Given the description of an element on the screen output the (x, y) to click on. 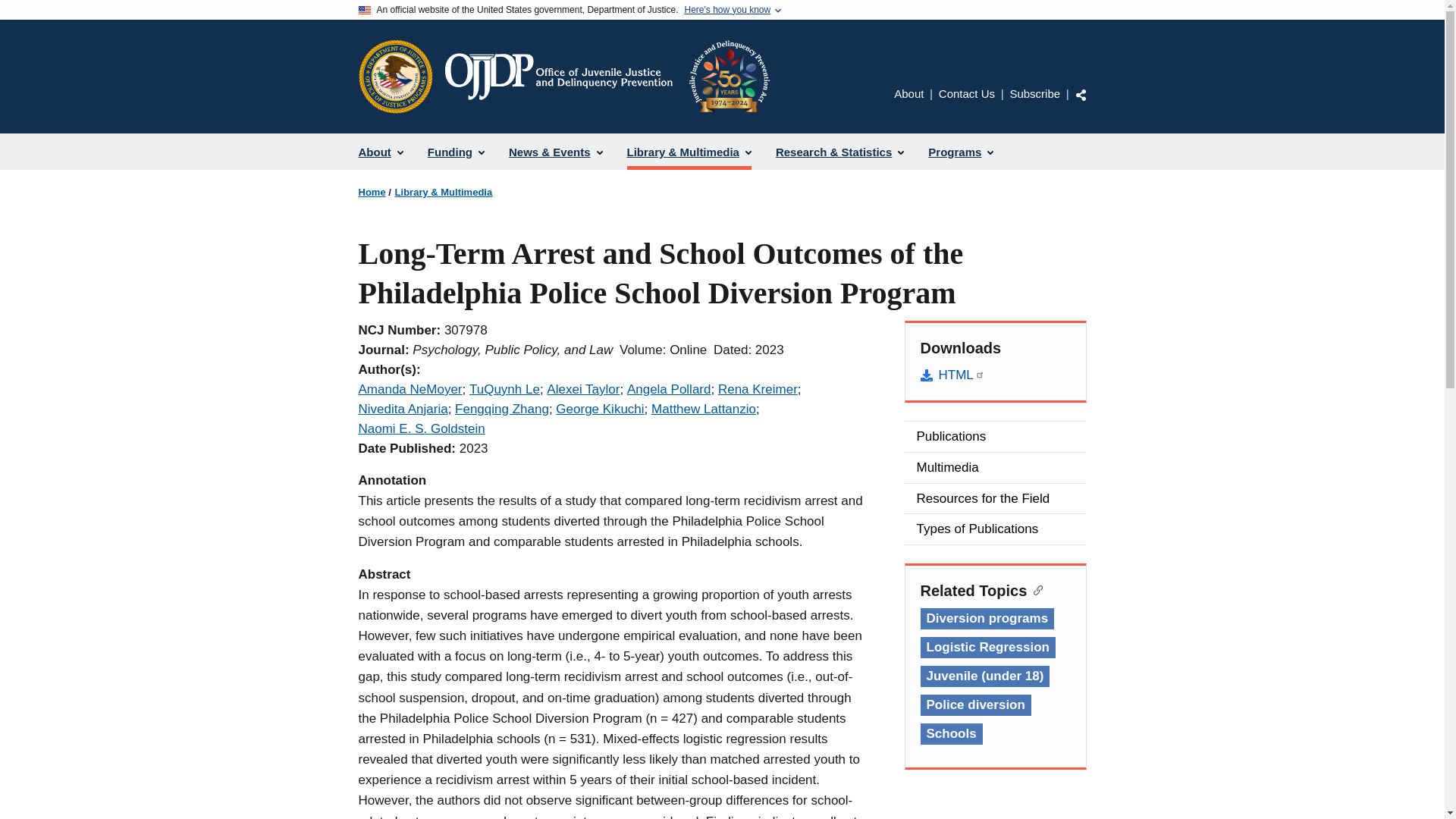
Copy link to section: Related Topics (1034, 589)
Funding (455, 151)
George Kikuchi (599, 409)
Alexei Taylor (583, 389)
Choose a social sharing platform (1080, 94)
Nivedita Anjaria (402, 409)
Subscribe (1034, 93)
Contact Us (966, 93)
Home (606, 76)
Amanda NeMoyer (409, 389)
Here's how you know (727, 9)
Home (371, 192)
Programs (960, 151)
HTML (995, 374)
Share (1080, 94)
